Given the description of an element on the screen output the (x, y) to click on. 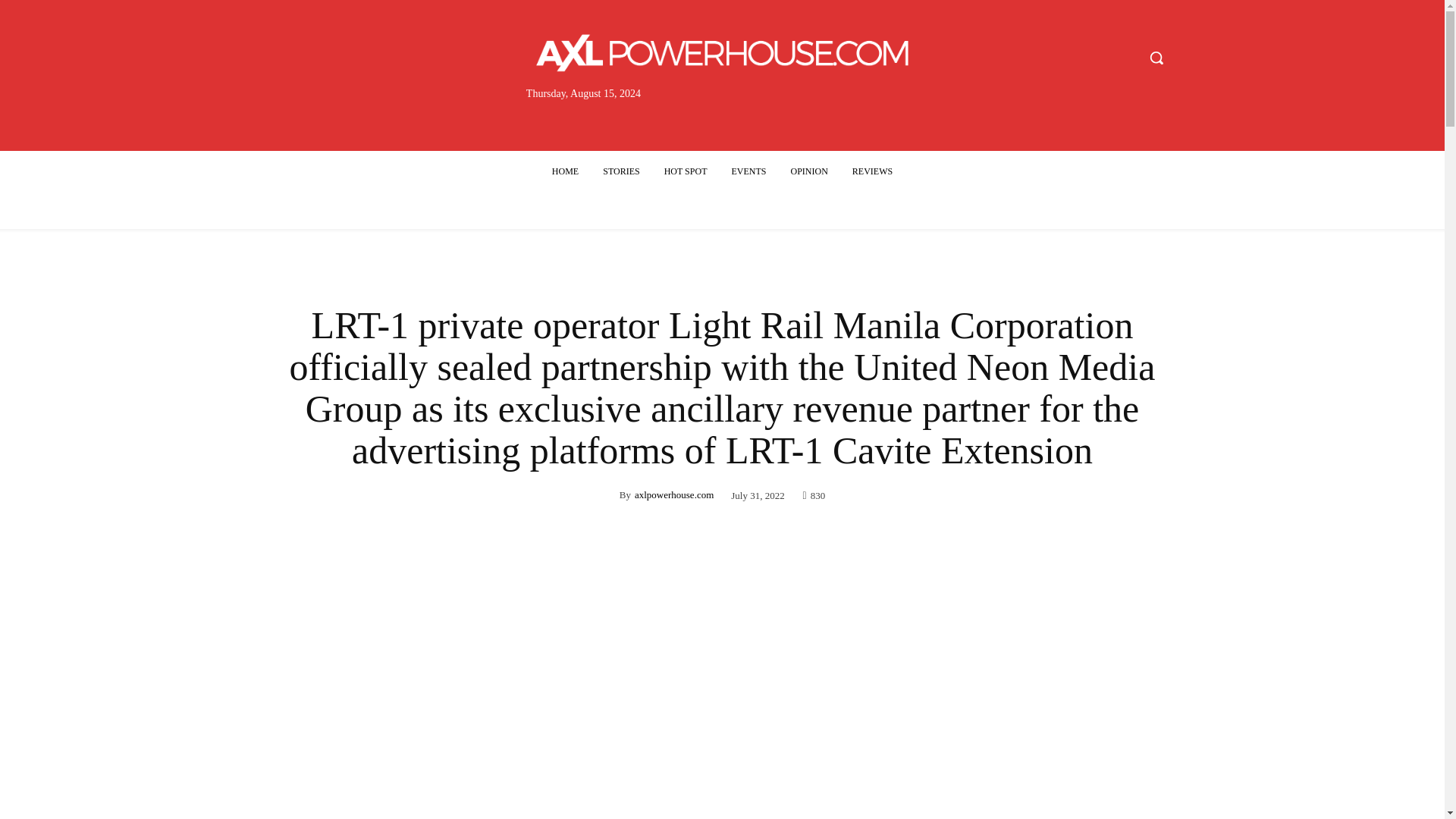
STORIES (620, 171)
EVENTS (748, 171)
HOME (565, 171)
axlpowerhouse.com (673, 494)
OPINION (808, 171)
REVIEWS (872, 171)
HOT SPOT (685, 171)
